Given the description of an element on the screen output the (x, y) to click on. 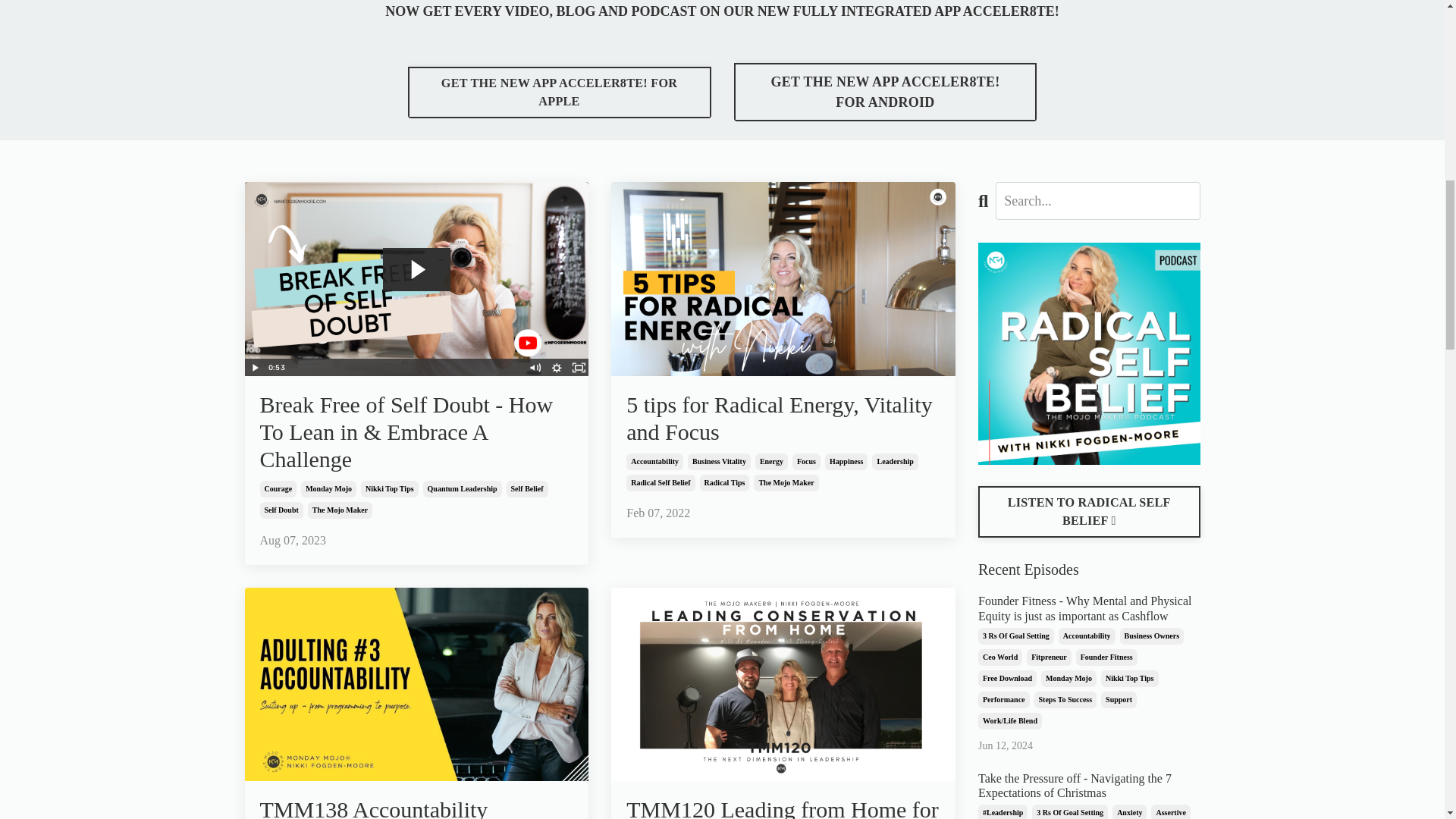
Nikki Top Tips (390, 488)
GET THE NEW APP ACCELER8TE! FOR APPLE (559, 92)
Quantum Leadership (462, 488)
GET THE NEW APP ACCELER8TE! FOR ANDROID (884, 92)
Business Vitality (719, 461)
Self Doubt (280, 510)
5 tips for Radical Energy, Vitality and Focus (783, 418)
Show settings menu (556, 367)
Monday Mojo (328, 488)
Accountability (654, 461)
The Mojo Maker (339, 510)
Self Belief (527, 488)
Courage (278, 488)
